Given the description of an element on the screen output the (x, y) to click on. 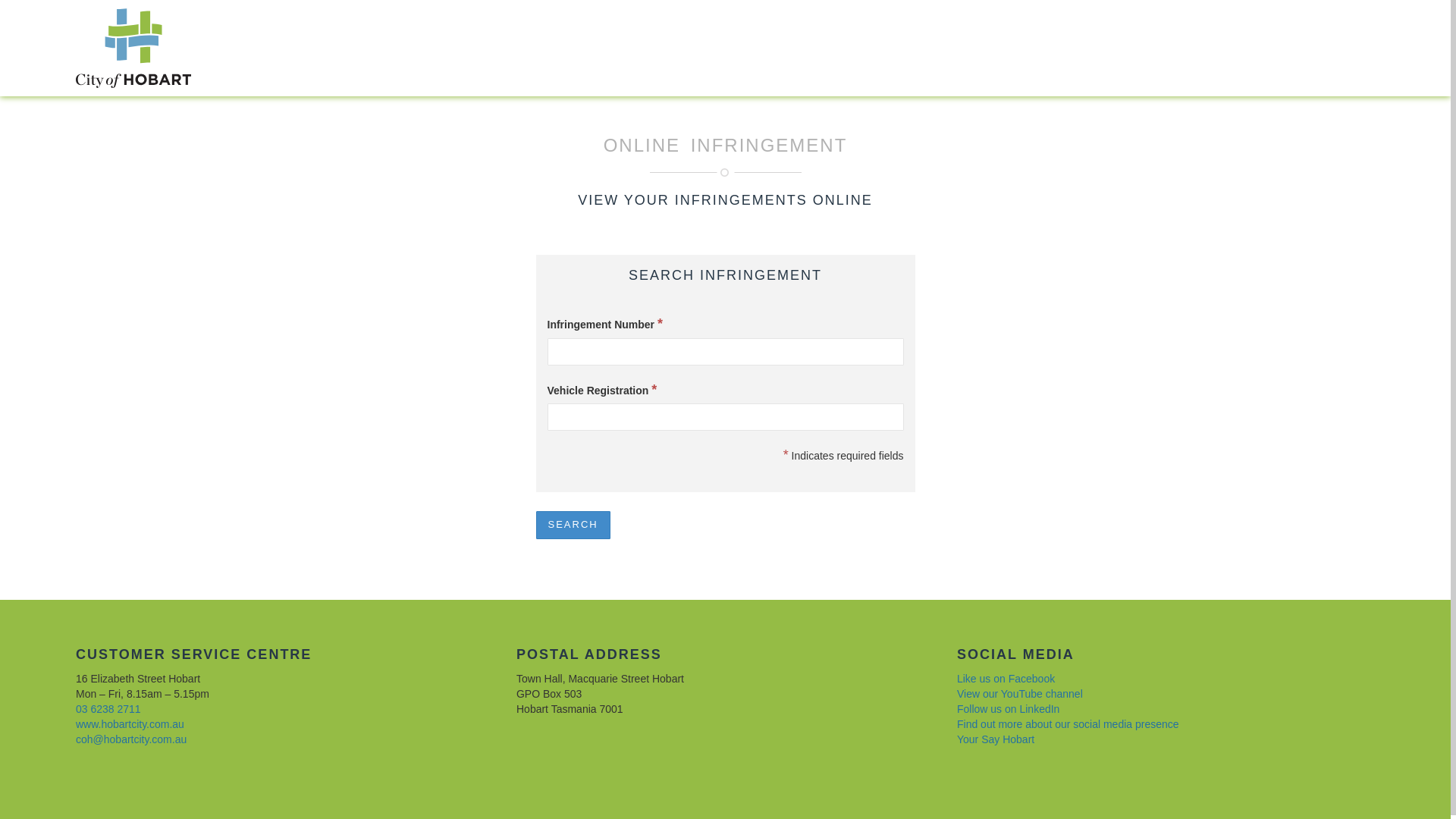
03 6238 2711 Element type: text (108, 708)
coh@hobartcity.com.au Element type: text (130, 739)
www.hobartcity.com.au Element type: text (129, 724)
SEARCH Element type: text (572, 525)
Find out more about our social media presence Element type: text (1068, 724)
Your Say Hobart Element type: text (995, 739)
Follow us on LinkedIn Element type: text (1008, 708)
View our YouTube channel Element type: text (1019, 693)
Like us on Facebook Element type: text (1005, 678)
